Given the description of an element on the screen output the (x, y) to click on. 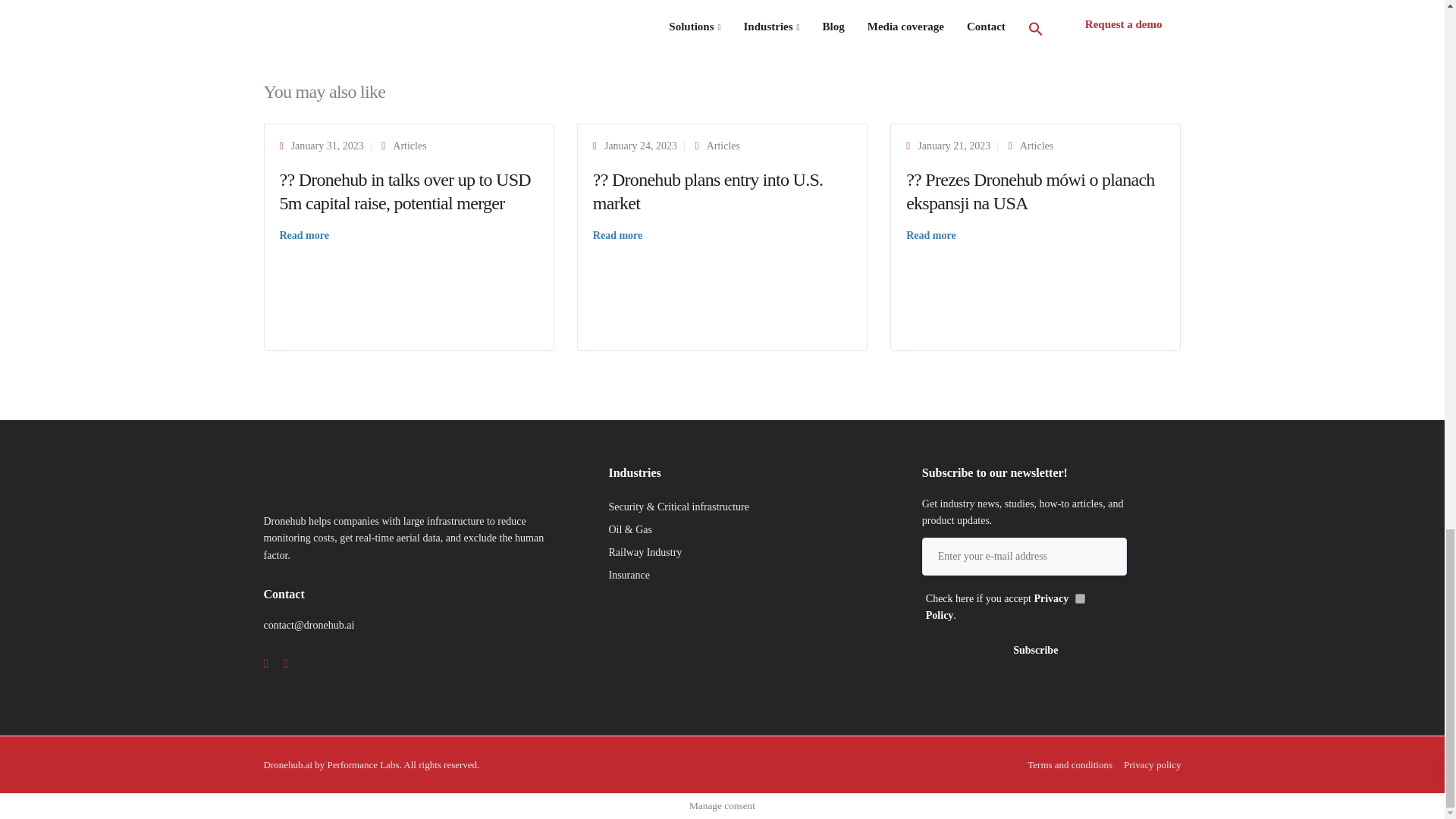
1 (1079, 598)
Read more (304, 235)
January 21, 2023 (953, 145)
January 31, 2023 (327, 145)
Read more (617, 235)
Subscribe (1035, 650)
?? Dronehub plans entry into U.S. market (708, 190)
Articles (1036, 145)
Articles (722, 145)
